Given the description of an element on the screen output the (x, y) to click on. 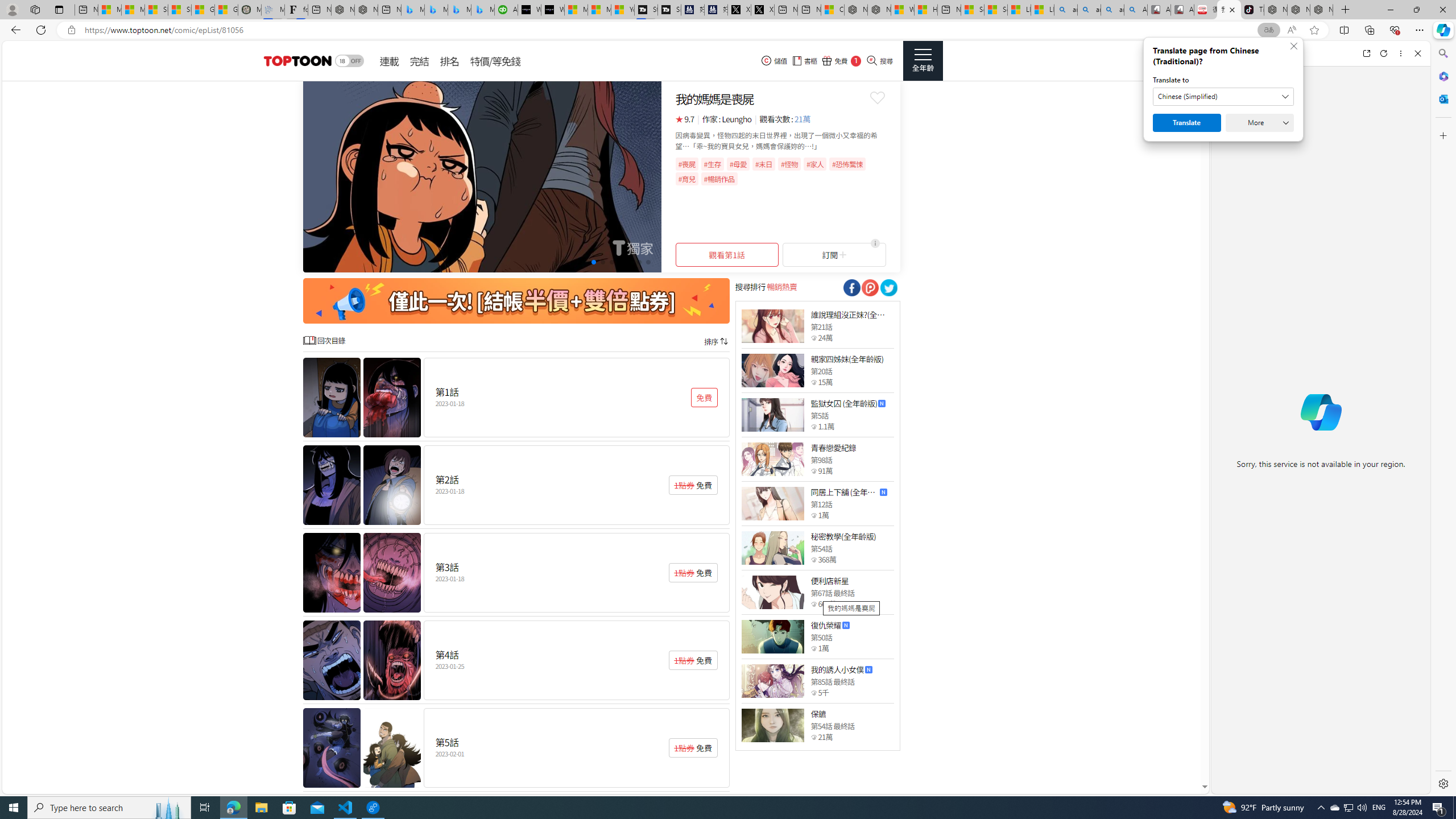
Class: swiper-slide (481, 176)
Streaming Coverage | T3 (645, 9)
Class: swiper-slide swiper-slide-duplicate (481, 176)
Go to slide 10 (647, 261)
